Given the description of an element on the screen output the (x, y) to click on. 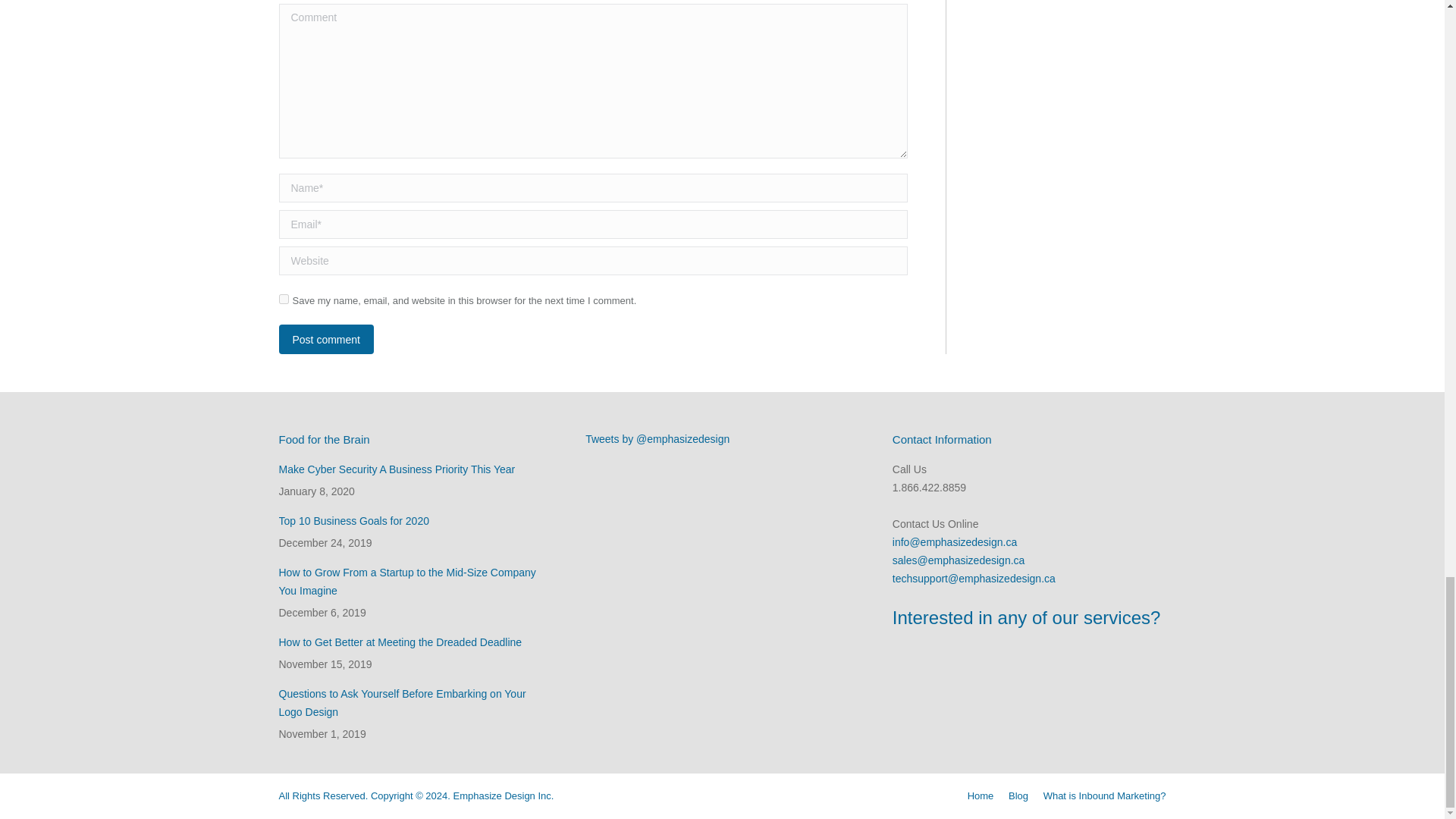
yes (283, 298)
